Given the description of an element on the screen output the (x, y) to click on. 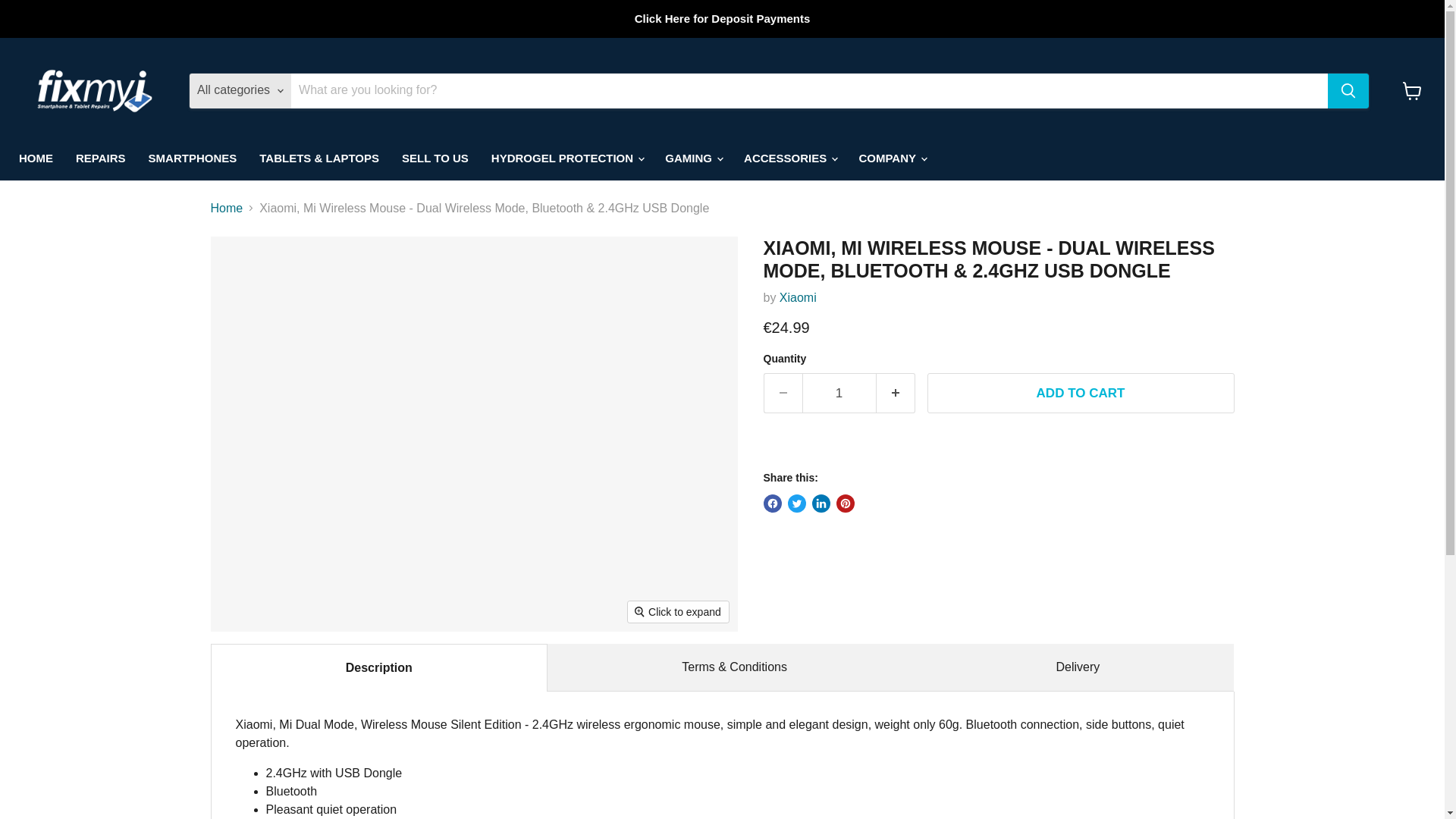
HOME (35, 158)
SELL TO US (435, 158)
Xiaomi (797, 297)
REPAIRS (100, 158)
View cart (1411, 90)
SMARTPHONES (192, 158)
1 (839, 393)
